Given the description of an element on the screen output the (x, y) to click on. 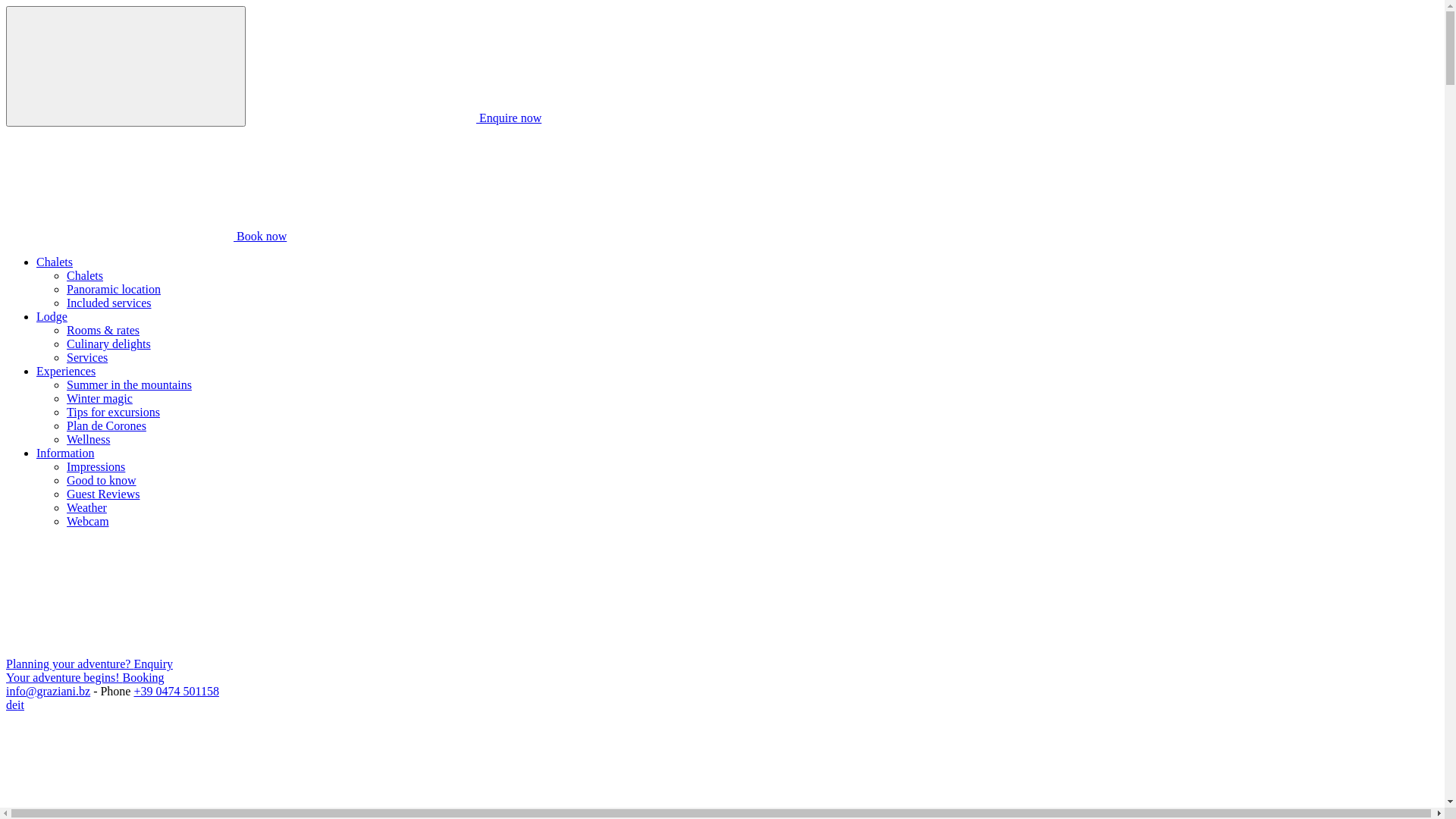
Culinary delights Element type: text (108, 343)
info@graziani.bz Element type: text (48, 690)
Good to know Element type: text (101, 479)
+39 0474 501158 Element type: text (175, 690)
Guest Reviews Element type: text (102, 493)
Rooms & rates Element type: text (102, 329)
Information Element type: text (65, 452)
Impressions Element type: text (95, 466)
Weather Element type: text (86, 507)
Plan de Corones Element type: text (106, 425)
Tips for excursions Element type: text (113, 411)
Lodge Element type: text (51, 316)
Wellness Element type: text (87, 439)
Your adventure begins! Booking Element type: text (85, 677)
Included services Element type: text (108, 302)
Experiences Element type: text (65, 370)
Chalets Element type: text (84, 275)
Book now Element type: text (146, 235)
Panoramic location Element type: text (113, 288)
Summer in the mountains Element type: text (128, 384)
de Element type: text (11, 704)
Planning your adventure? Enquiry Element type: text (89, 663)
Winter magic Element type: text (99, 398)
Chalets Element type: text (54, 261)
Services Element type: text (86, 357)
Webcam Element type: text (87, 520)
it Element type: text (20, 704)
Enquire now Element type: text (394, 117)
